Given the description of an element on the screen output the (x, y) to click on. 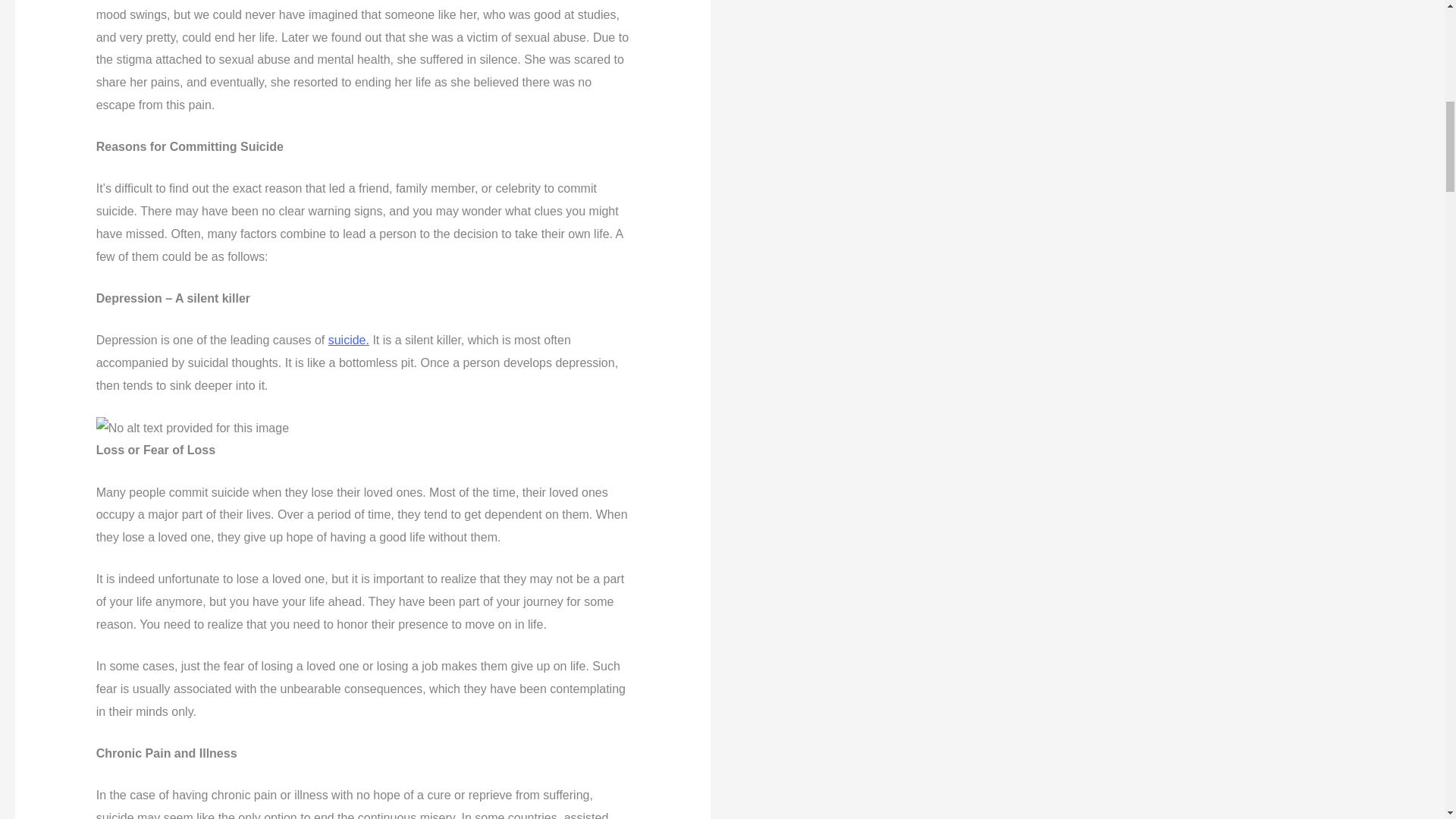
suicide. (349, 339)
